Given the description of an element on the screen output the (x, y) to click on. 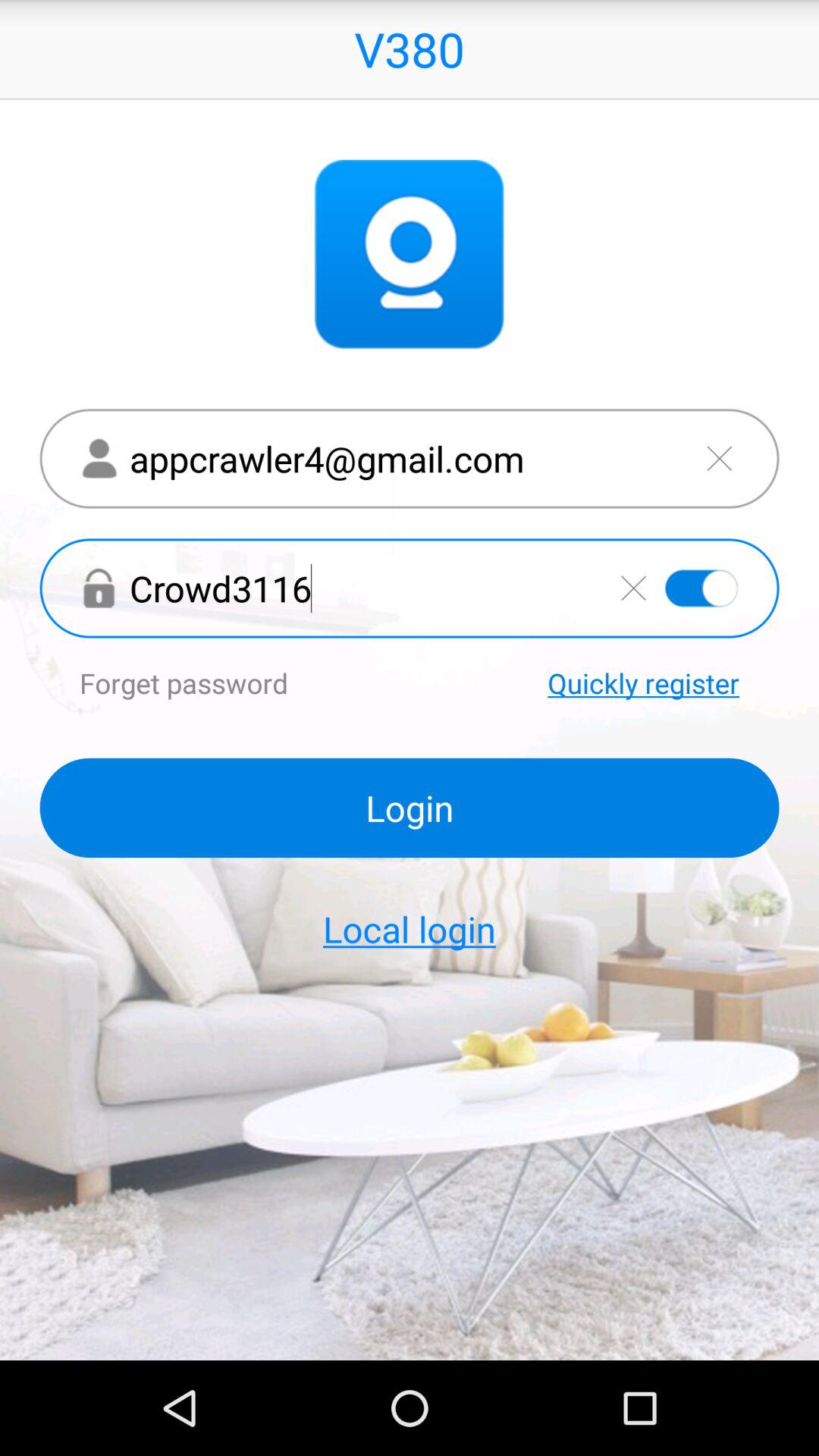
hide password (701, 587)
